Given the description of an element on the screen output the (x, y) to click on. 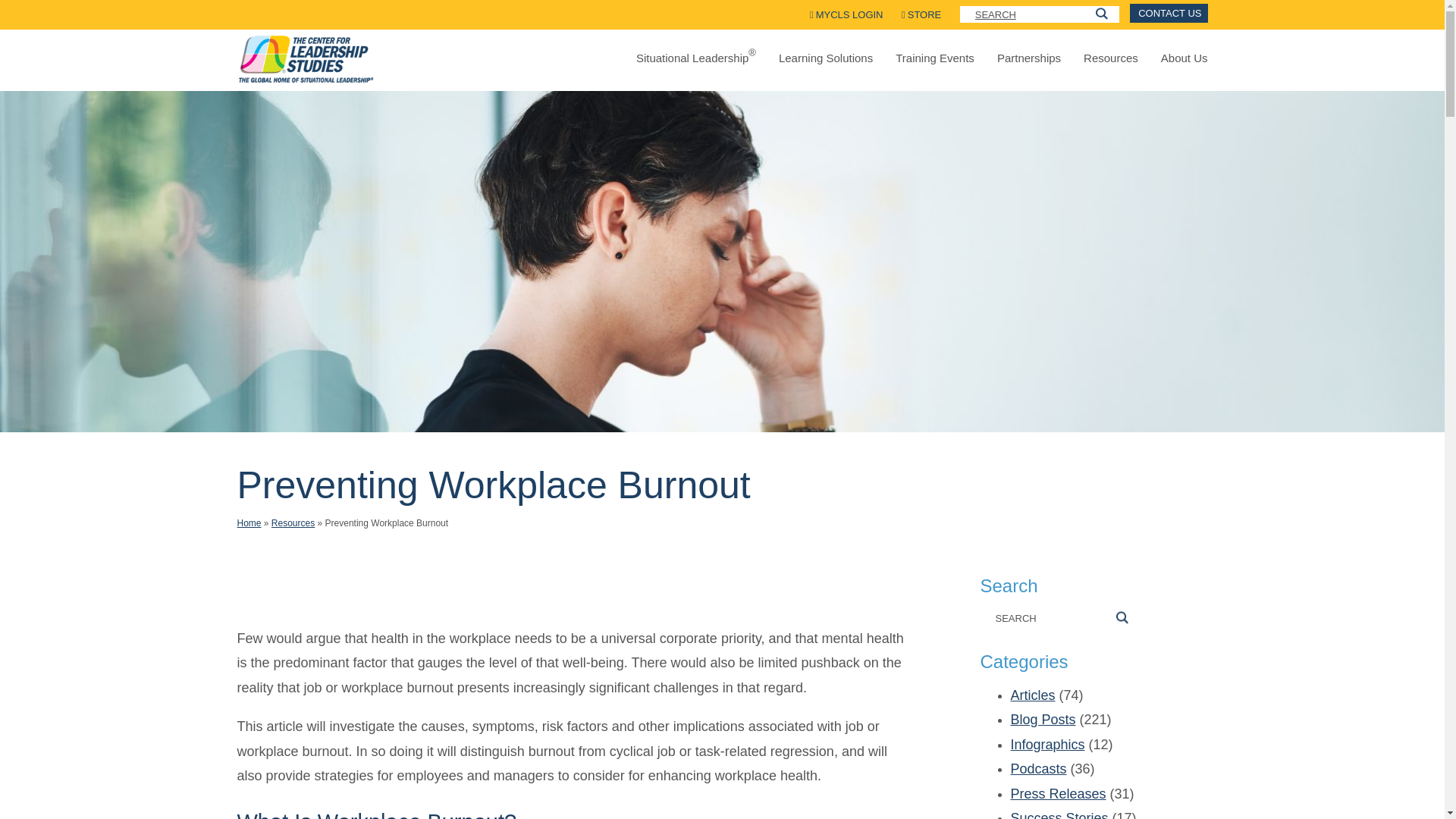
Partnerships (1029, 57)
Training Events (934, 57)
About Us (1184, 57)
Learning Solutions (825, 57)
MYCLS LOGIN (846, 14)
CONTACT US (1168, 13)
Resources (1110, 57)
STORE (920, 14)
